Given the description of an element on the screen output the (x, y) to click on. 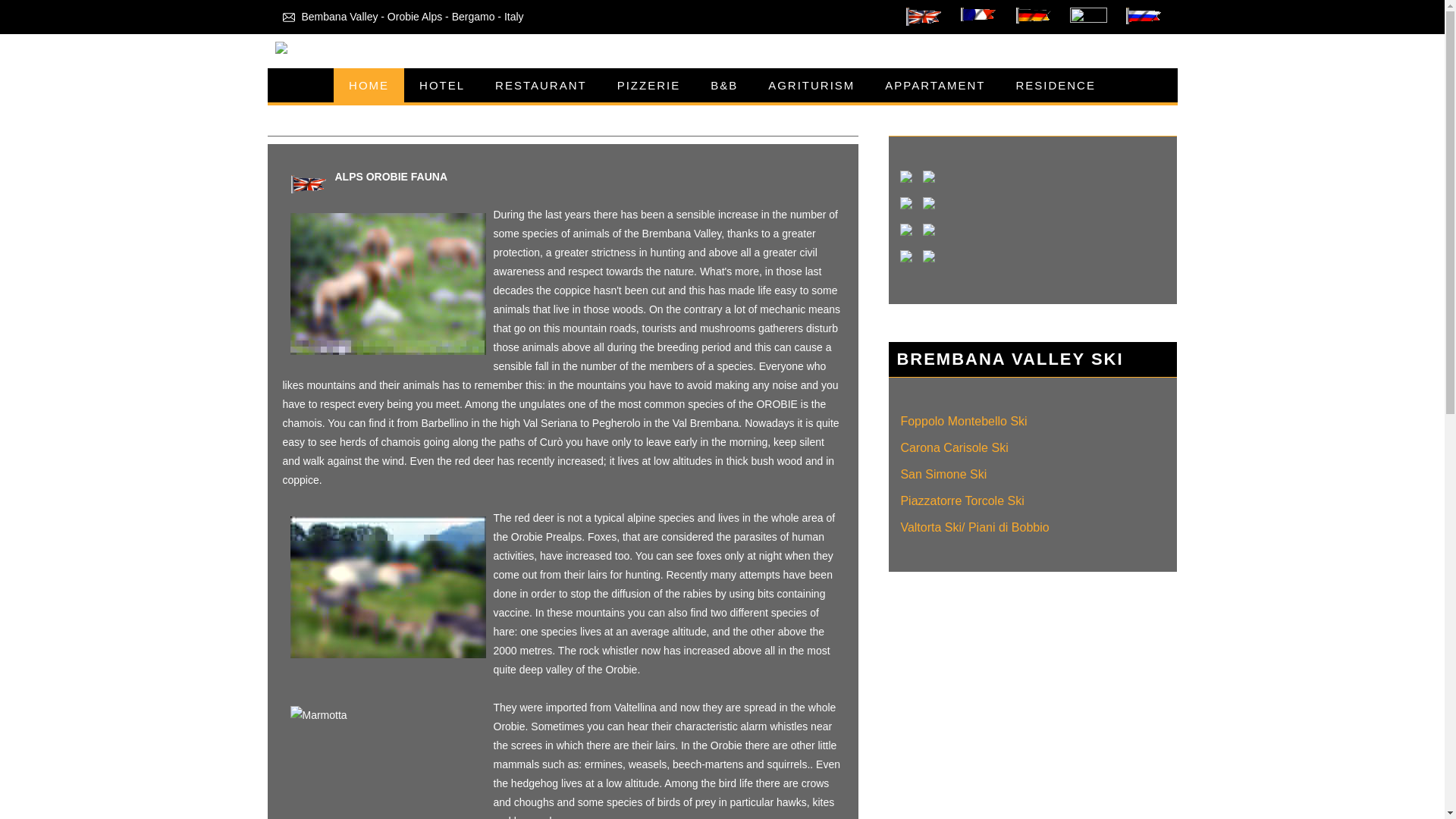
Brembana Valley Bergamo (923, 16)
HOTEL (442, 84)
Brembana Valley Bergamo (978, 16)
Foppolo Montebello Ski (962, 420)
Brembana Valley Bergamo (1088, 16)
APPARTAMENT (934, 84)
Piazzatorre Torcole Ski (961, 500)
AGRITURISM (810, 84)
RESIDENCE (1055, 84)
San Simone Ski (943, 474)
